Given the description of an element on the screen output the (x, y) to click on. 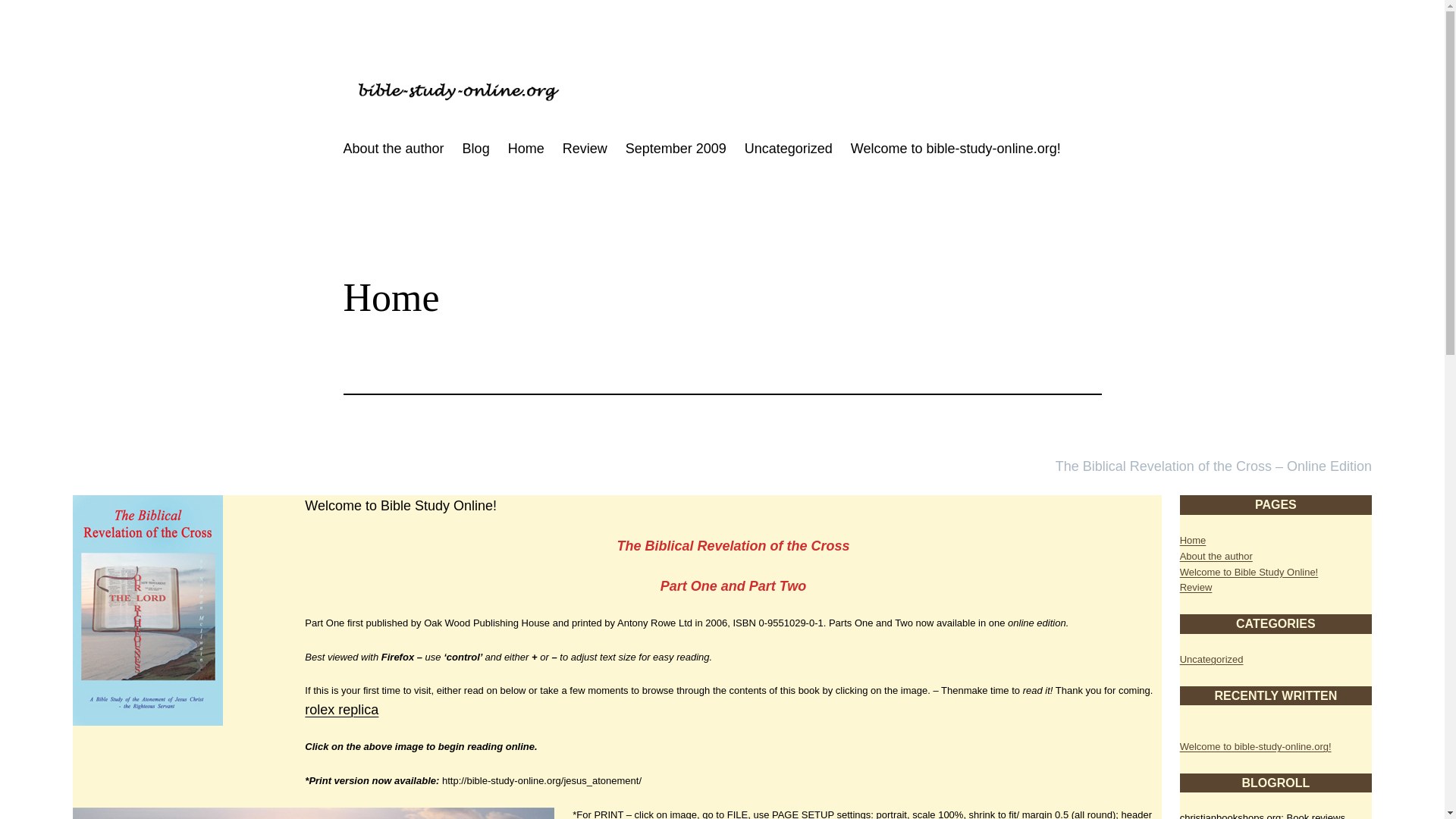
rolex replica (341, 709)
Blog (476, 148)
Welcome to Bible Study Online! (1249, 572)
About the author (393, 148)
Review (1195, 586)
About the author (1215, 555)
Home (1193, 540)
September 2009 (676, 148)
Home (526, 148)
Welcome to bible-study-online.org! (955, 148)
Welcome to bible-study-online.org! (1255, 746)
Uncategorized (1211, 659)
Review (584, 148)
Uncategorized (788, 148)
